Given the description of an element on the screen output the (x, y) to click on. 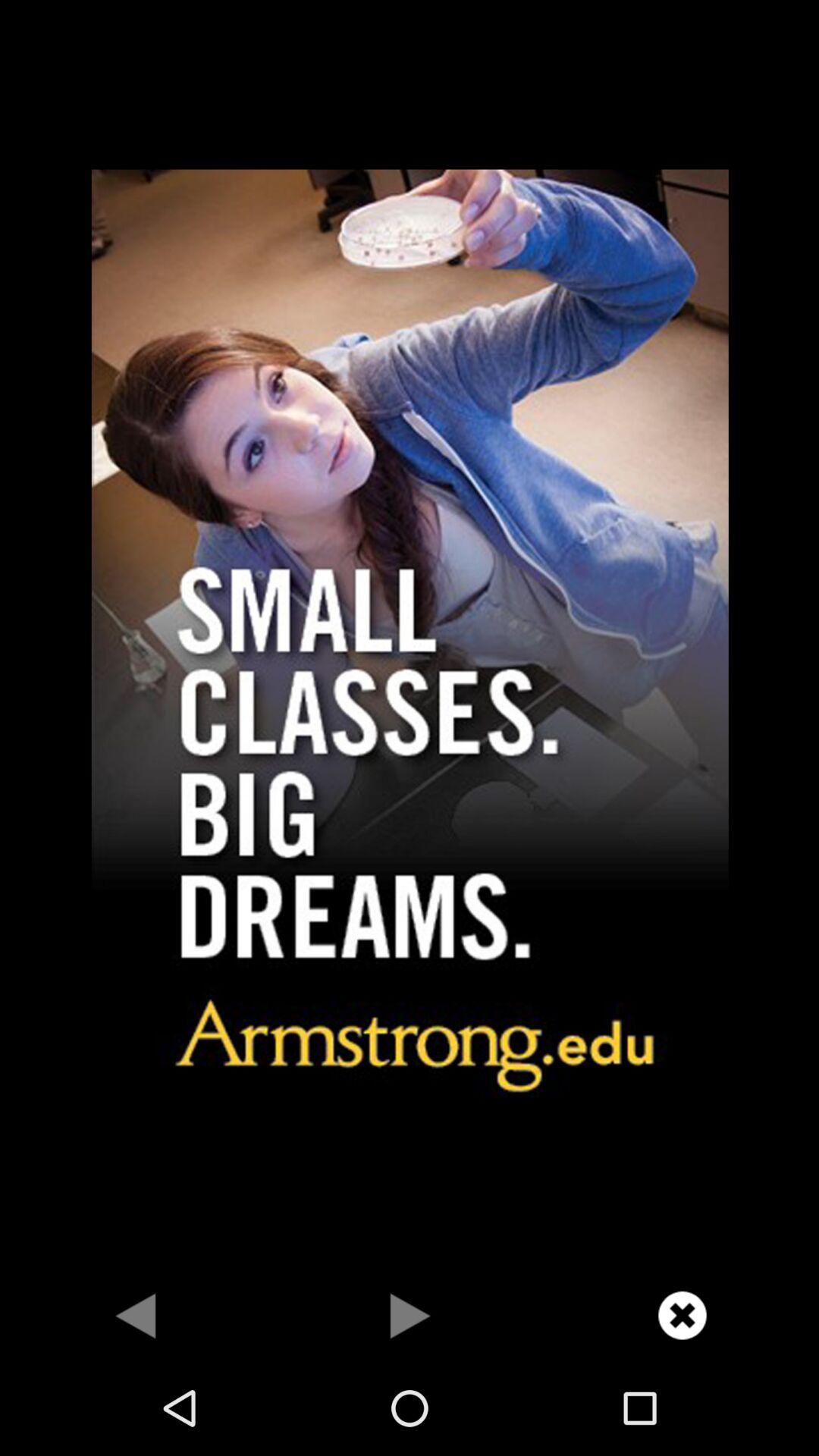
go to next page (409, 1315)
